Given the description of an element on the screen output the (x, y) to click on. 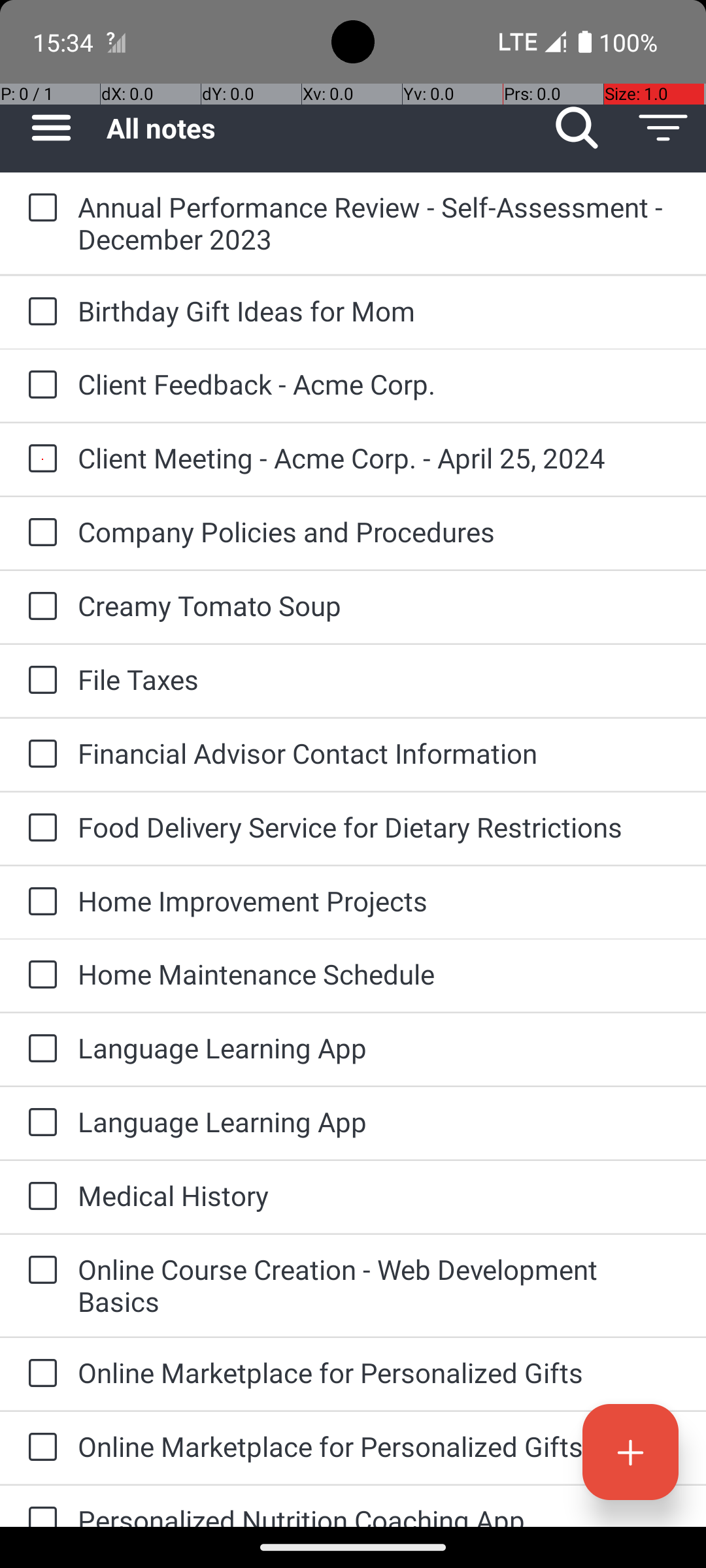
to-do: Birthday Gift Ideas for Mom Element type: android.widget.CheckBox (38, 312)
Birthday Gift Ideas for Mom Element type: android.widget.TextView (378, 310)
to-do: Client Feedback - Acme Corp. Element type: android.widget.CheckBox (38, 385)
Client Feedback - Acme Corp. Element type: android.widget.TextView (378, 383)
to-do: Client Meeting - Acme Corp. - April 25, 2024 Element type: android.widget.CheckBox (38, 459)
Client Meeting - Acme Corp. - April 25, 2024 Element type: android.widget.TextView (378, 457)
to-do: Company Policies and Procedures Element type: android.widget.CheckBox (38, 533)
Company Policies and Procedures Element type: android.widget.TextView (378, 531)
to-do: Creamy Tomato Soup Element type: android.widget.CheckBox (38, 606)
Creamy Tomato Soup Element type: android.widget.TextView (378, 604)
to-do: File Taxes Element type: android.widget.CheckBox (38, 680)
File Taxes Element type: android.widget.TextView (378, 678)
to-do: Food Delivery Service for Dietary Restrictions Element type: android.widget.CheckBox (38, 828)
Food Delivery Service for Dietary Restrictions Element type: android.widget.TextView (378, 826)
to-do: Home Improvement Projects Element type: android.widget.CheckBox (38, 902)
Home Improvement Projects Element type: android.widget.TextView (378, 900)
to-do: Home Maintenance Schedule Element type: android.widget.CheckBox (38, 975)
Home Maintenance Schedule Element type: android.widget.TextView (378, 973)
to-do: Language Learning App Element type: android.widget.CheckBox (38, 1049)
Language Learning App Element type: android.widget.TextView (378, 1047)
to-do: Medical History Element type: android.widget.CheckBox (38, 1196)
Medical History Element type: android.widget.TextView (378, 1194)
to-do: Online Course Creation - Web Development Basics Element type: android.widget.CheckBox (38, 1270)
Online Course Creation - Web Development Basics Element type: android.widget.TextView (378, 1284)
to-do: Online Marketplace for Personalized Gifts Element type: android.widget.CheckBox (38, 1374)
Online Marketplace for Personalized Gifts Element type: android.widget.TextView (378, 1371)
to-do: Personalized Nutrition Coaching App Element type: android.widget.CheckBox (38, 1505)
Personalized Nutrition Coaching App Element type: android.widget.TextView (378, 1513)
